Given the description of an element on the screen output the (x, y) to click on. 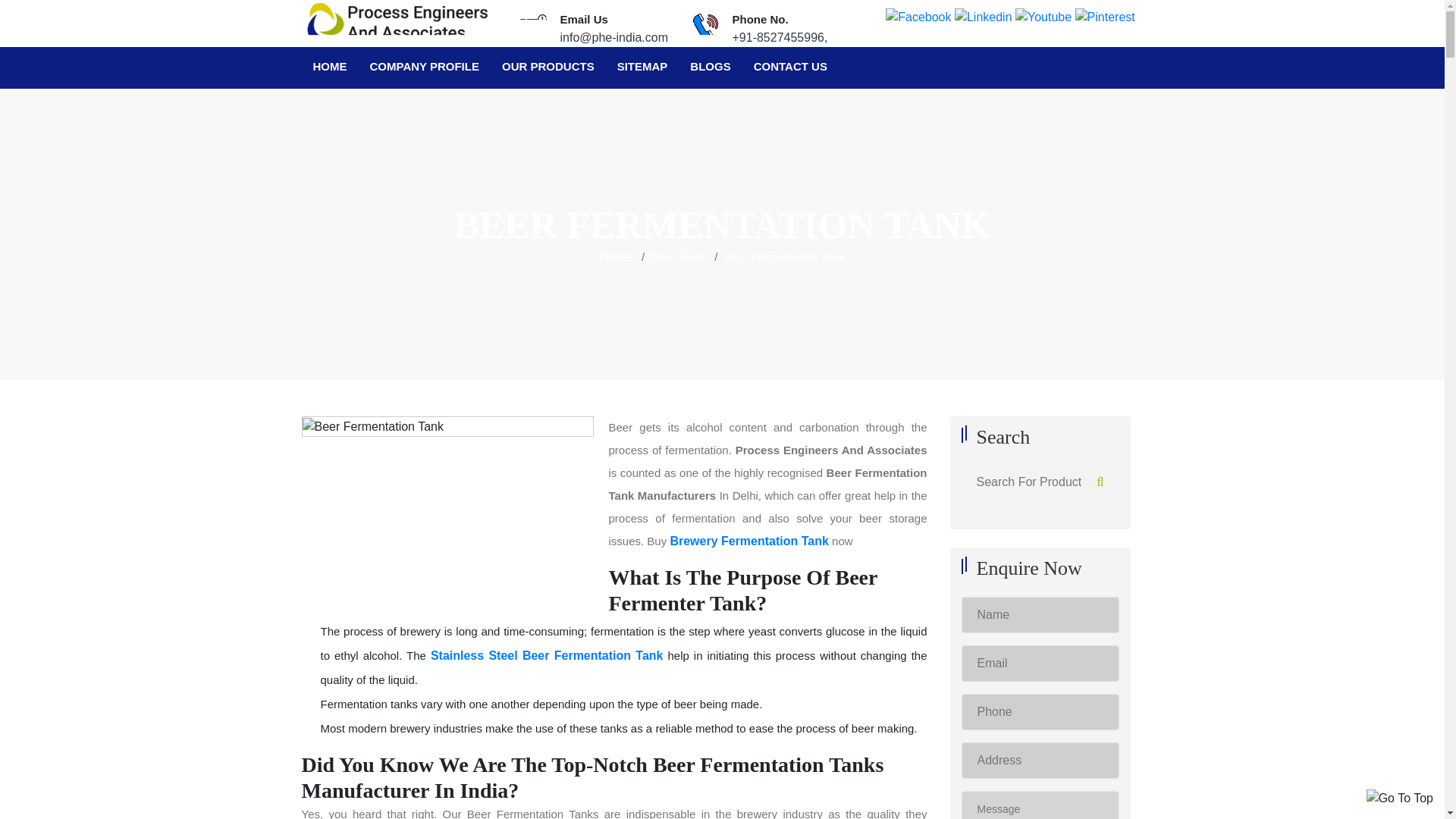
Facebook (917, 15)
Linkedin (983, 15)
Youtube (1042, 15)
Process Engineers And Associates (398, 20)
Youtube (1042, 17)
Email Us (531, 26)
Pinterest (1105, 15)
Facebook (917, 17)
Linkedin (983, 17)
Process Engineers And Associates (398, 22)
